Given the description of an element on the screen output the (x, y) to click on. 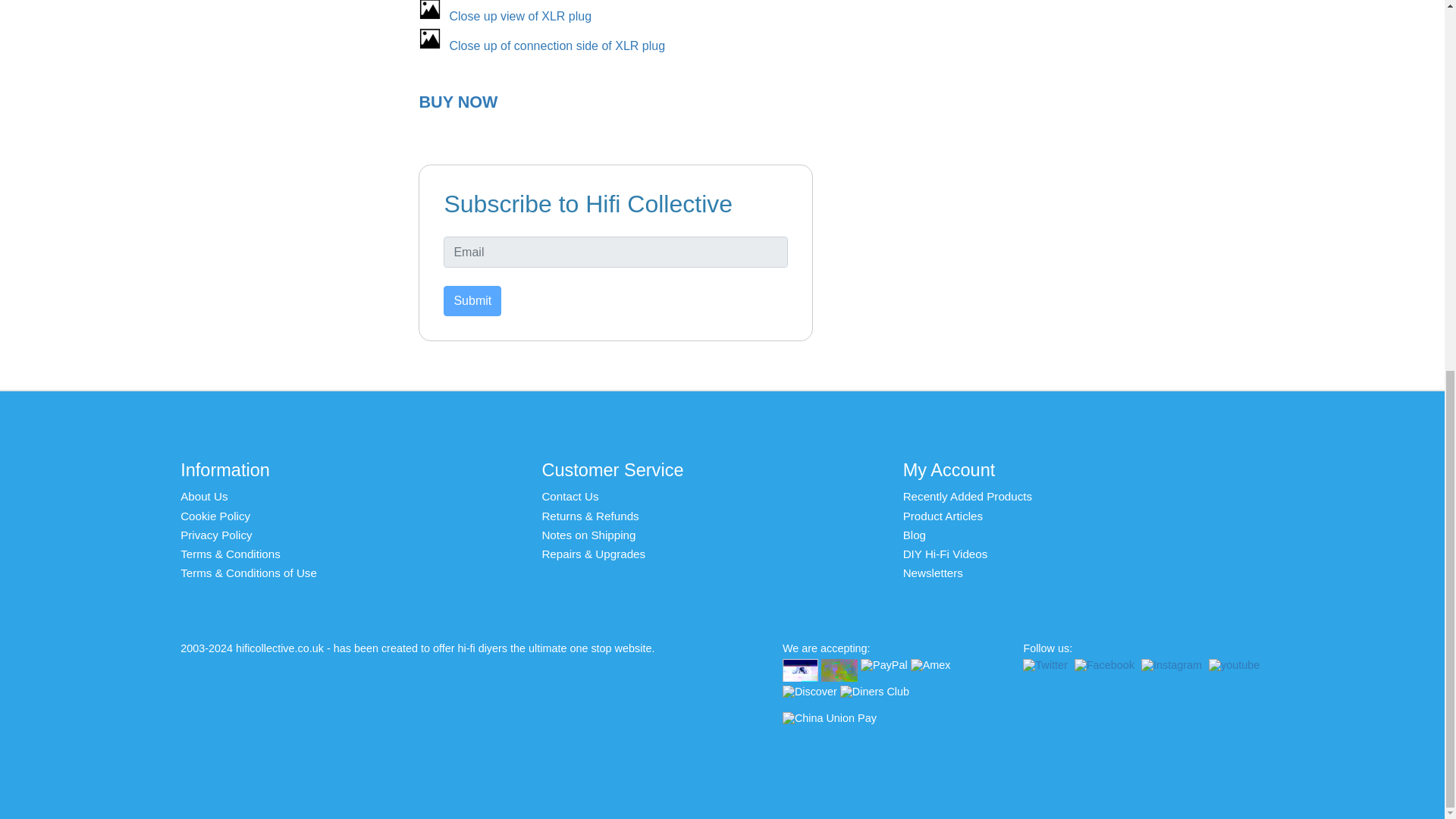
Open image in new window (556, 45)
Open image in new window (519, 15)
repair-upgrade-engineers.html (593, 553)
